Given the description of an element on the screen output the (x, y) to click on. 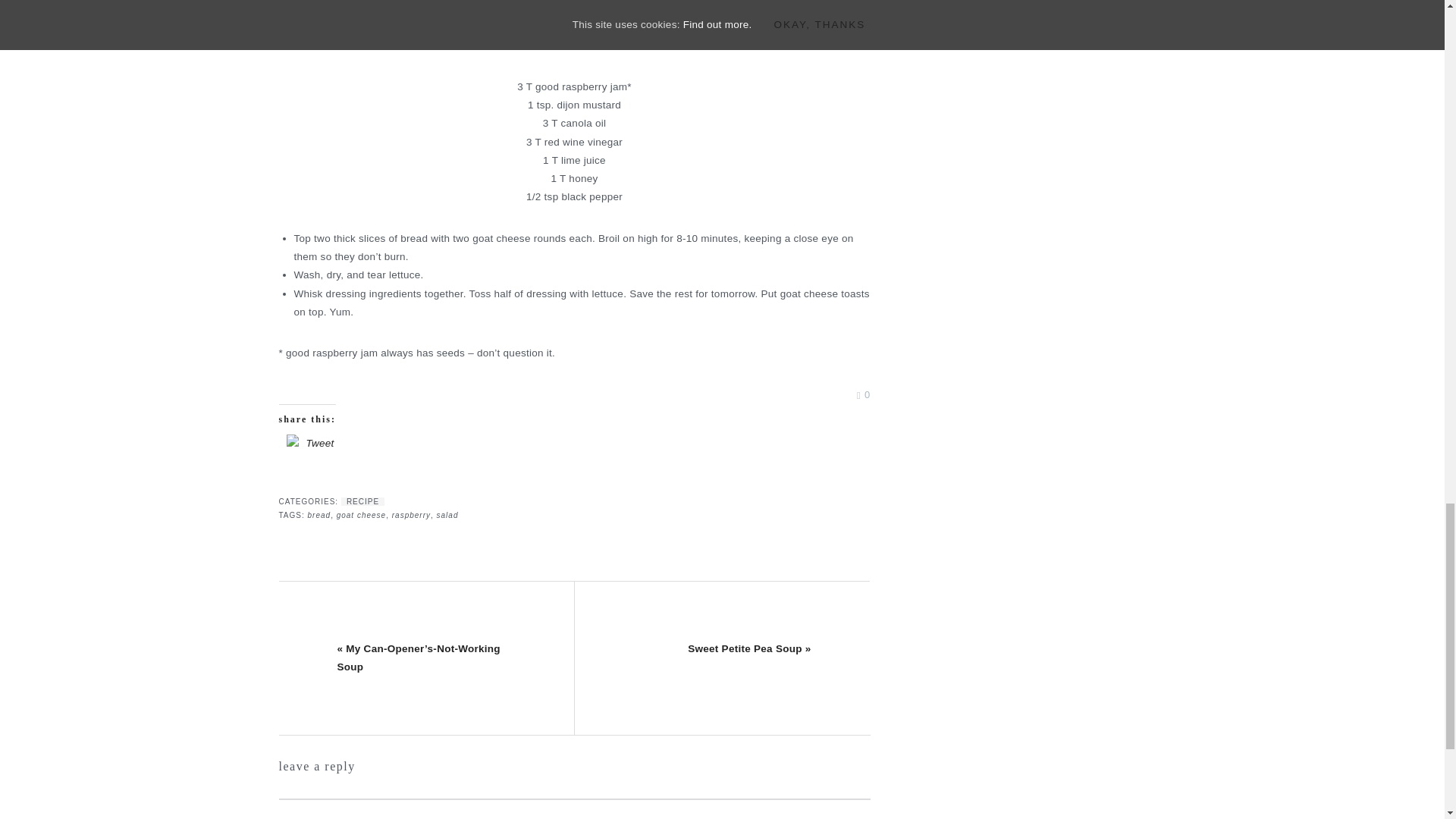
salad (447, 515)
RECIPE (362, 501)
Tweet (319, 442)
bread (319, 515)
goat cheese (361, 515)
raspberry (410, 515)
